Given the description of an element on the screen output the (x, y) to click on. 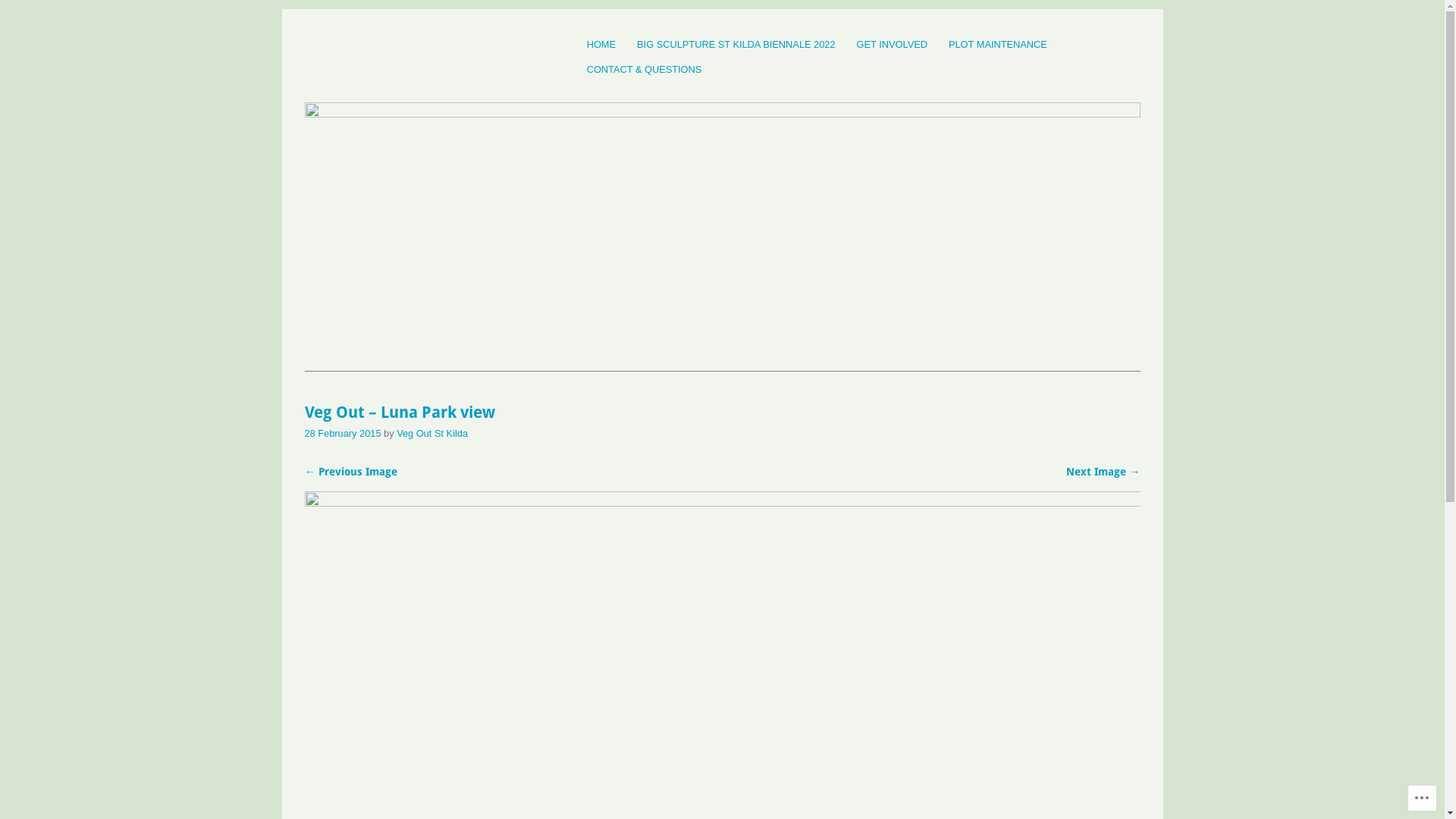
HOME Element type: text (601, 43)
PLOT MAINTENANCE Element type: text (997, 43)
VEG OUT COMMUNITY GARDENS Element type: text (505, 58)
GET INVOLVED Element type: text (892, 43)
Veg Out St Kilda Element type: text (431, 433)
CONTACT & QUESTIONS Element type: text (644, 68)
BIG SCULPTURE ST KILDA BIENNALE 2022 Element type: text (736, 43)
28 February 2015 Element type: text (342, 433)
